Given the description of an element on the screen output the (x, y) to click on. 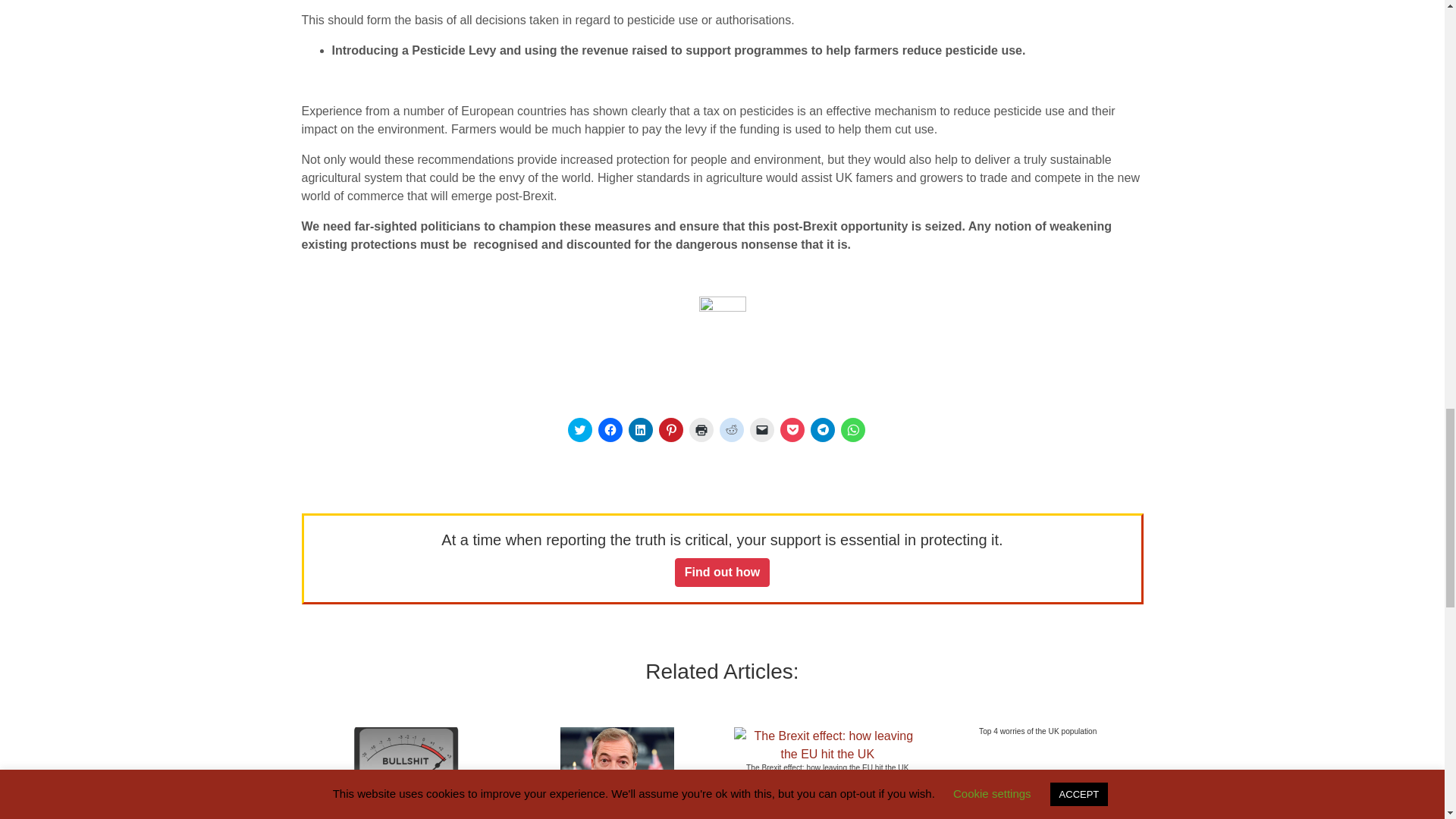
Click to share on WhatsApp (852, 429)
Click to share on Facebook (608, 429)
Click to print (700, 429)
Click to share on Pocket (790, 429)
Click to share on LinkedIn (639, 429)
Click to email a link to a friend (761, 429)
Click to share on Pinterest (670, 429)
Click to share on Telegram (821, 429)
Find out how (722, 572)
The Bullshit Barometer Is Currently Off The Scale (406, 784)
Click to share on Twitter (579, 429)
The Brexit effect: how leaving the EU hit the UK (827, 755)
Click to share on Reddit (730, 429)
Top 4 worries of the UK population (1037, 731)
